Given the description of an element on the screen output the (x, y) to click on. 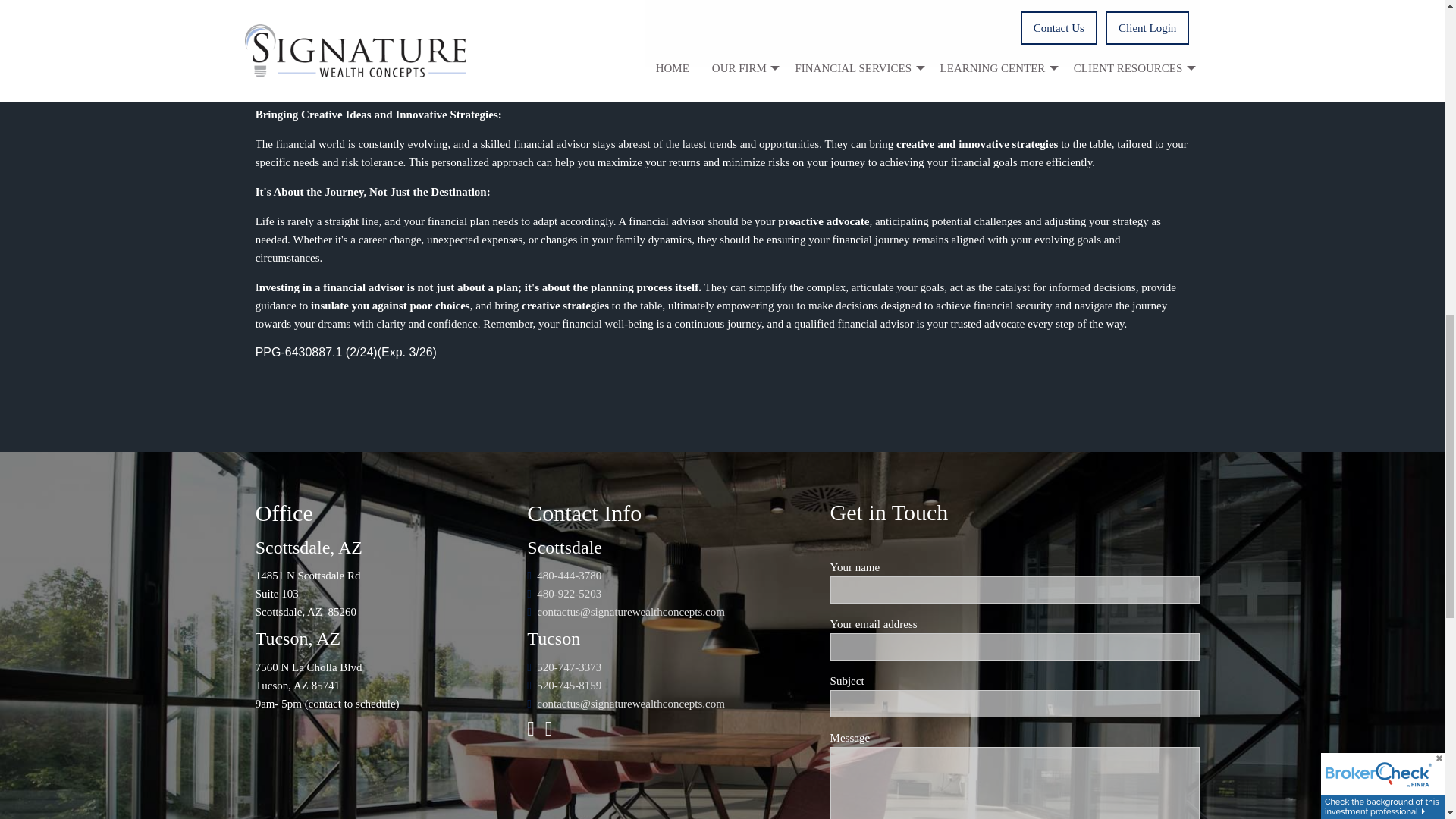
480-922-5203 (569, 593)
520-745-8159 (569, 685)
520-747-3373 (569, 666)
480-444-3780 (569, 575)
